Given the description of an element on the screen output the (x, y) to click on. 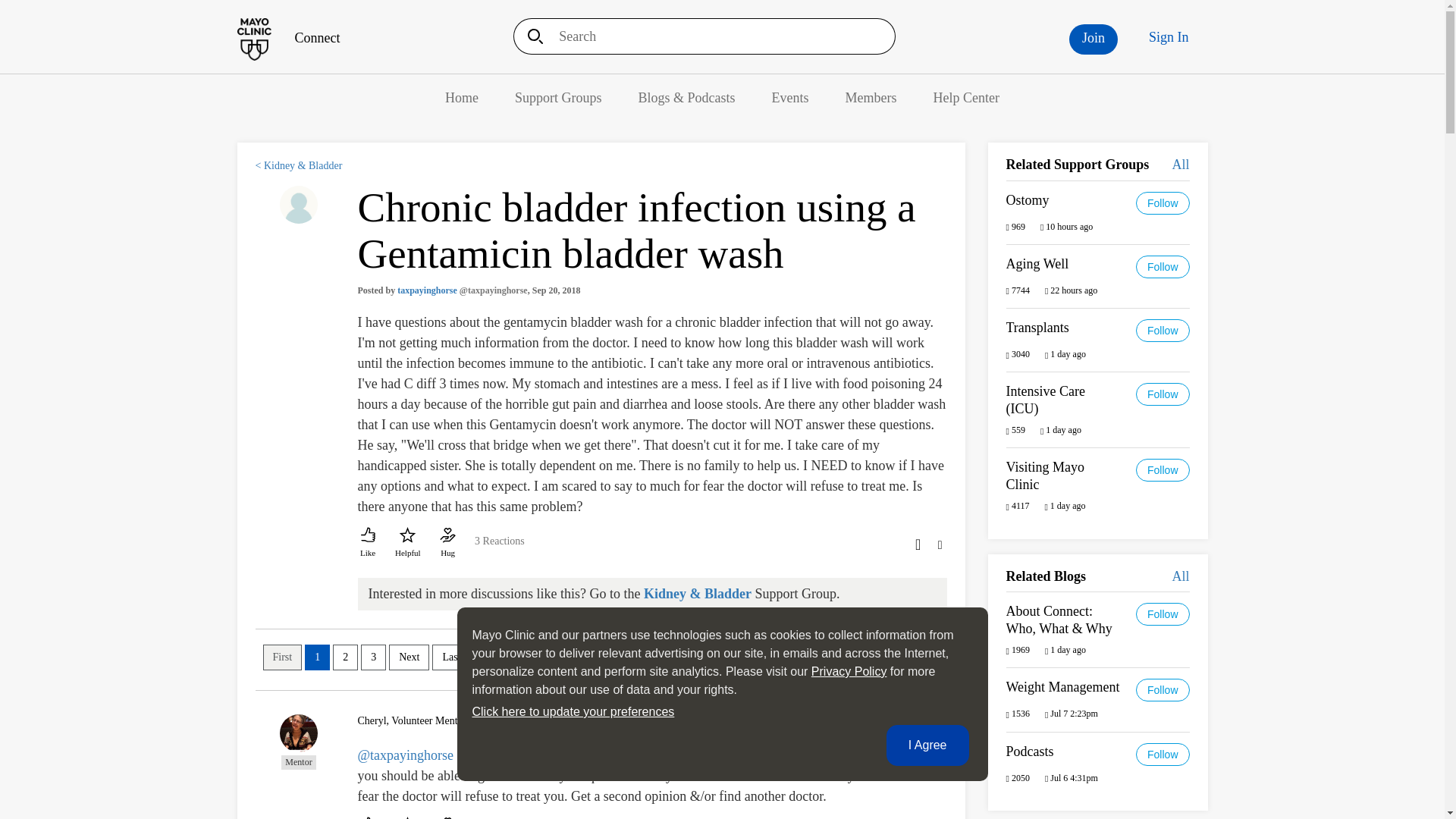
Support Groups (558, 97)
Support Groups (558, 97)
Hug (448, 816)
Search (530, 36)
Hug (448, 542)
Events (790, 97)
Home (287, 37)
2 (345, 657)
Join (1093, 39)
Helpful (407, 542)
Help Center (965, 97)
Helpful: indicate that you found this discussion helpful. (407, 542)
Helpful (407, 816)
Like (368, 816)
Last (451, 657)
